Given the description of an element on the screen output the (x, y) to click on. 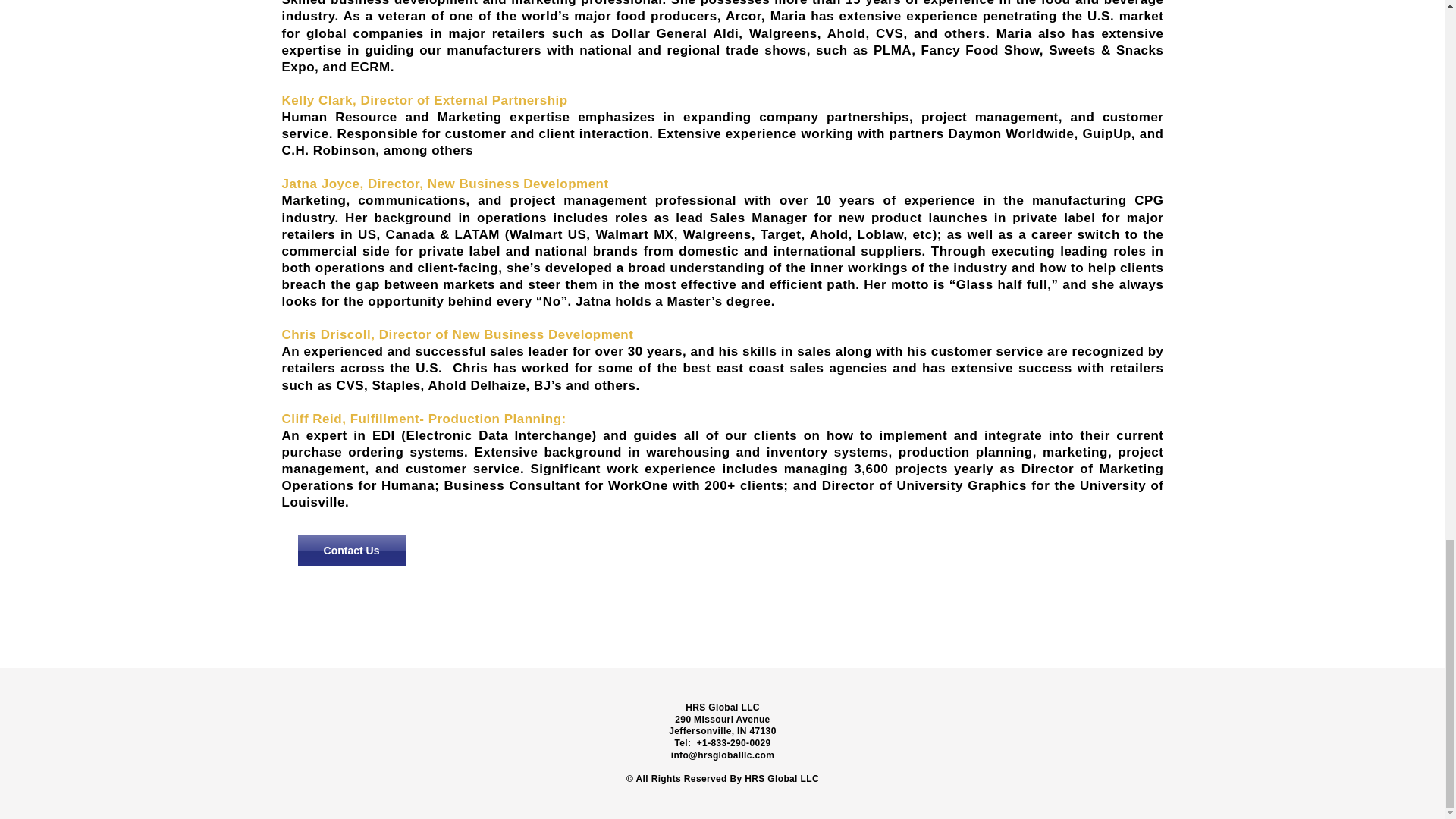
Contact Us (350, 550)
